Given the description of an element on the screen output the (x, y) to click on. 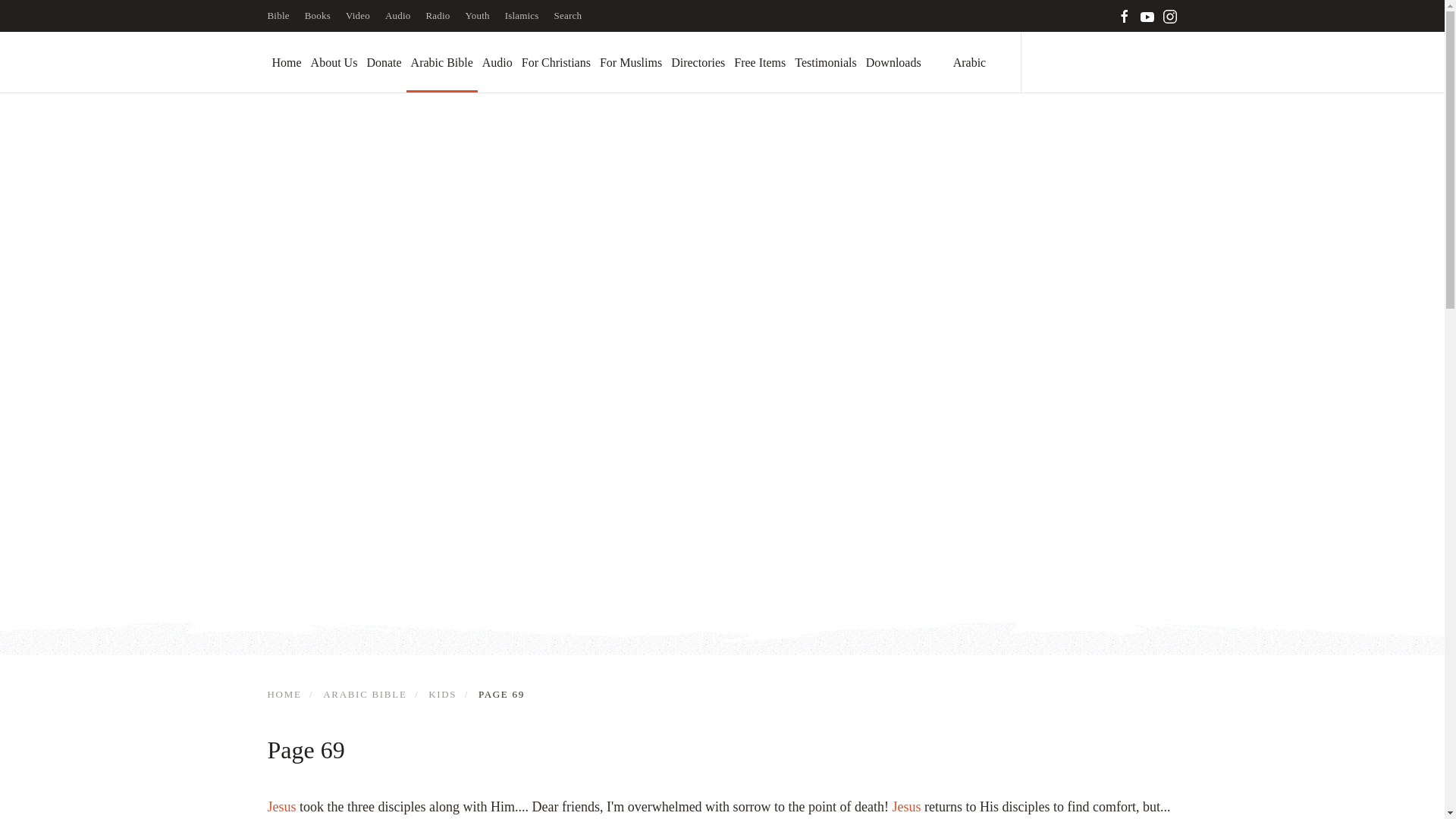
Jesus (906, 806)
Jesus (280, 806)
